Given the description of an element on the screen output the (x, y) to click on. 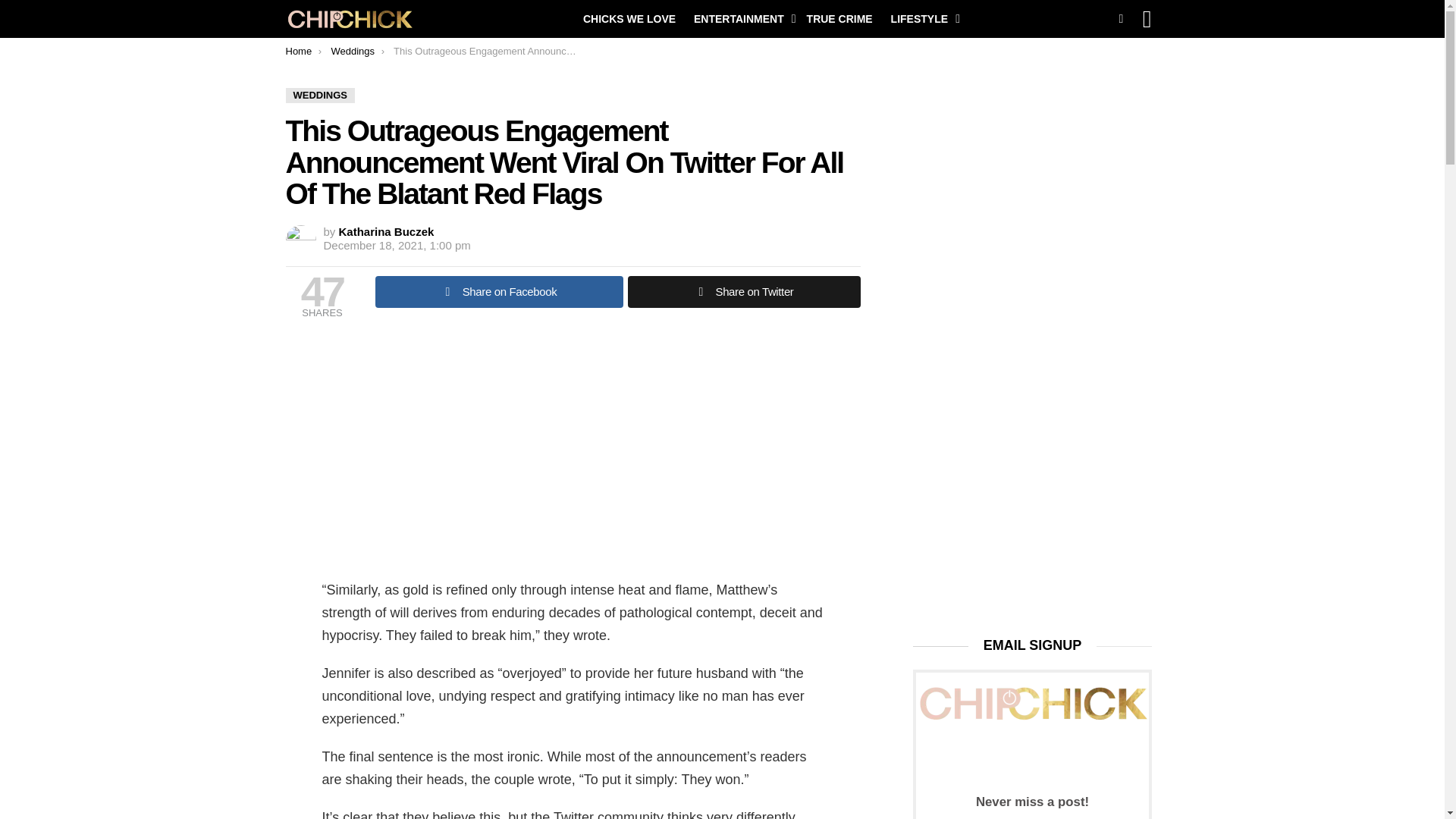
Home (298, 50)
CHICKS WE LOVE (628, 18)
TRUE CRIME (839, 18)
Katharina Buczek (386, 231)
LIFESTYLE (921, 18)
Weddings (352, 50)
Share on Facebook (498, 291)
WEDDINGS (320, 95)
Posts by Katharina Buczek (386, 231)
ENTERTAINMENT (740, 18)
